Given the description of an element on the screen output the (x, y) to click on. 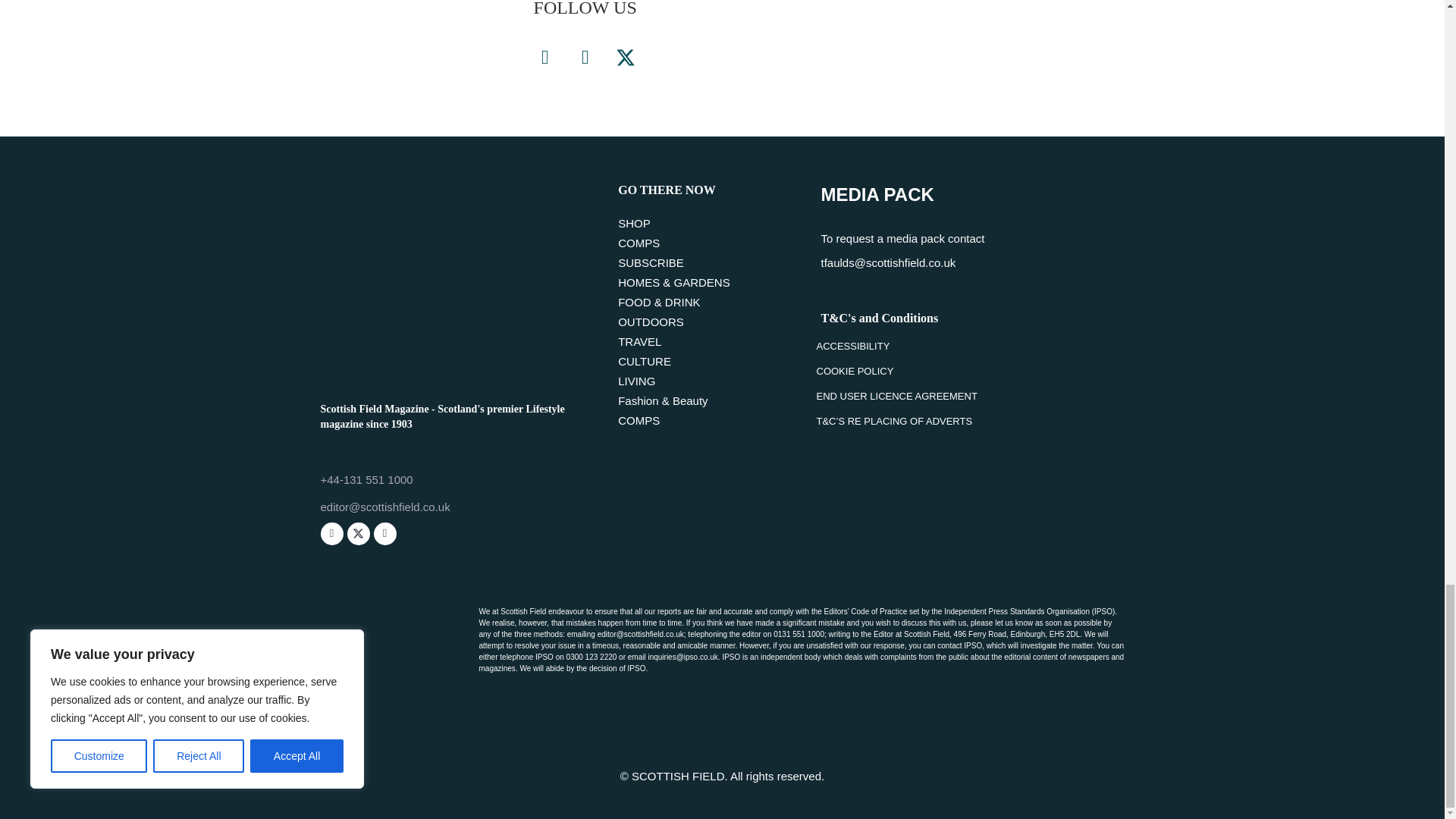
Facebook (331, 533)
Facebook (544, 58)
Instagram (584, 58)
Instagram (384, 533)
